Given the description of an element on the screen output the (x, y) to click on. 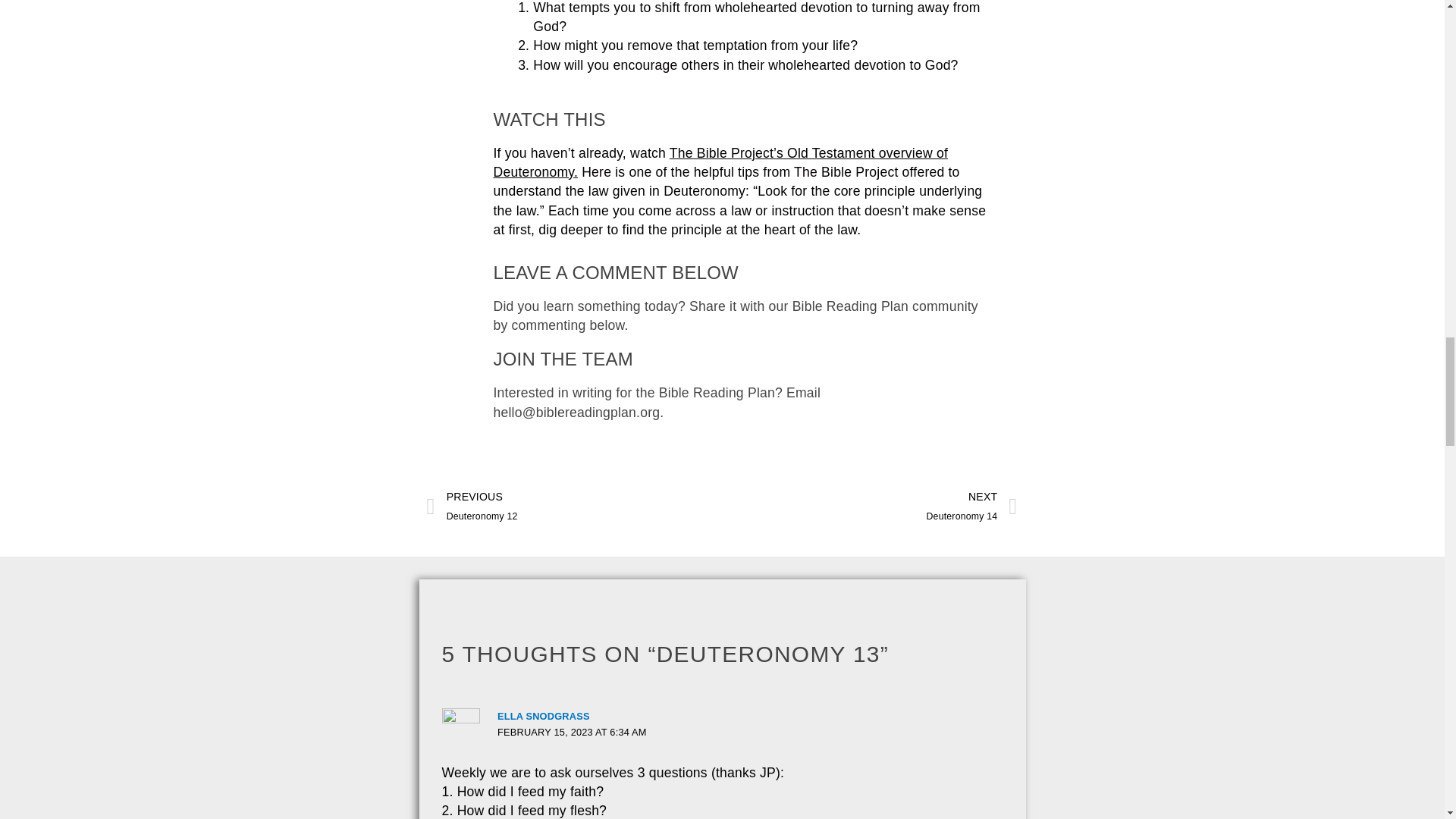
FEBRUARY 15, 2023 AT 6:34 AM (971, 506)
